Given the description of an element on the screen output the (x, y) to click on. 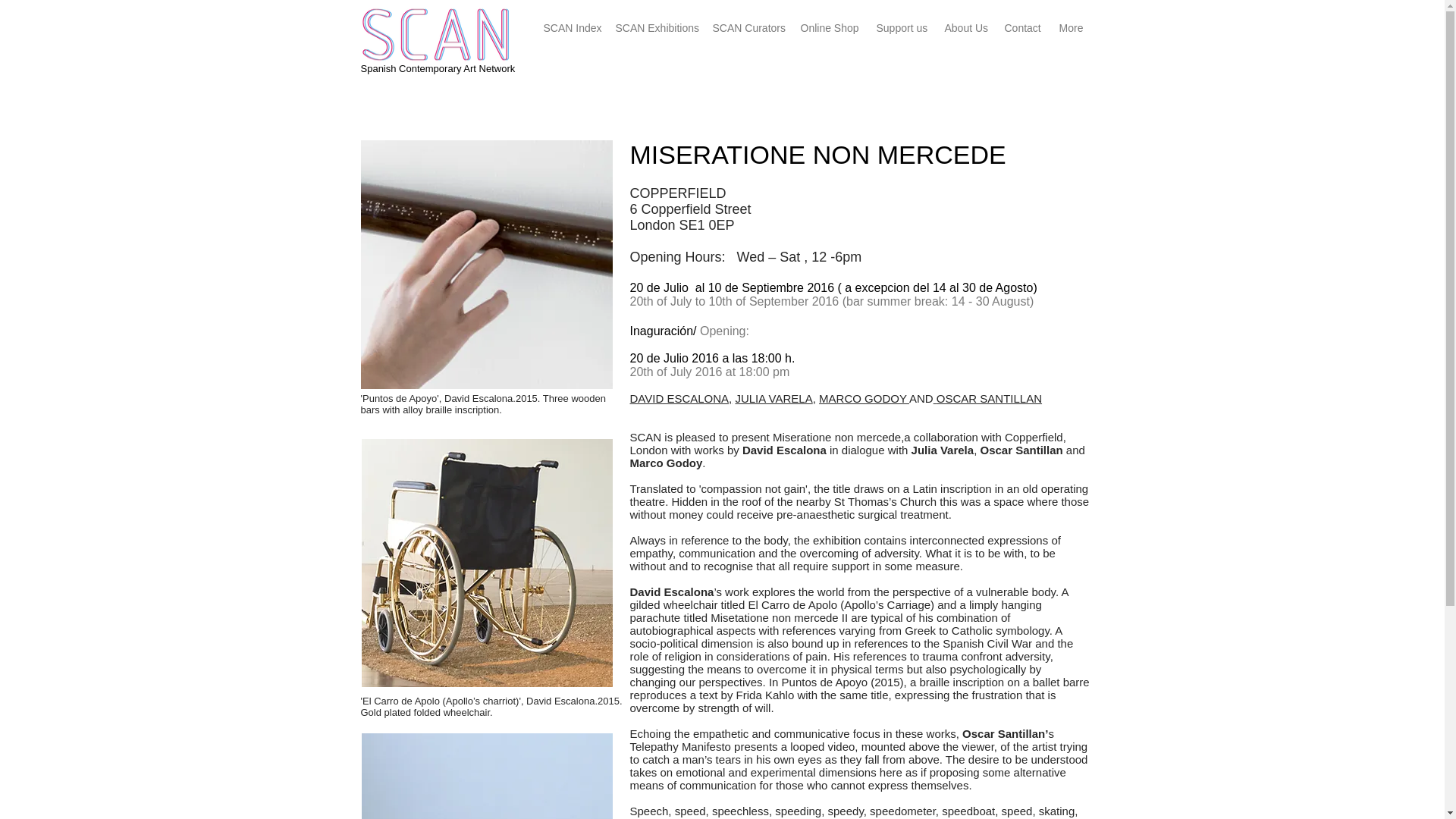
SCAN Index (569, 21)
SCAN Exhibitions (653, 21)
DAVID ESCALONA (678, 398)
Site Search (436, 89)
1837051.jpg (486, 776)
About Us (964, 21)
Contact (1021, 21)
Online Shop (828, 21)
SCAN Curators (745, 21)
MARCO GODOY (863, 398)
